Given the description of an element on the screen output the (x, y) to click on. 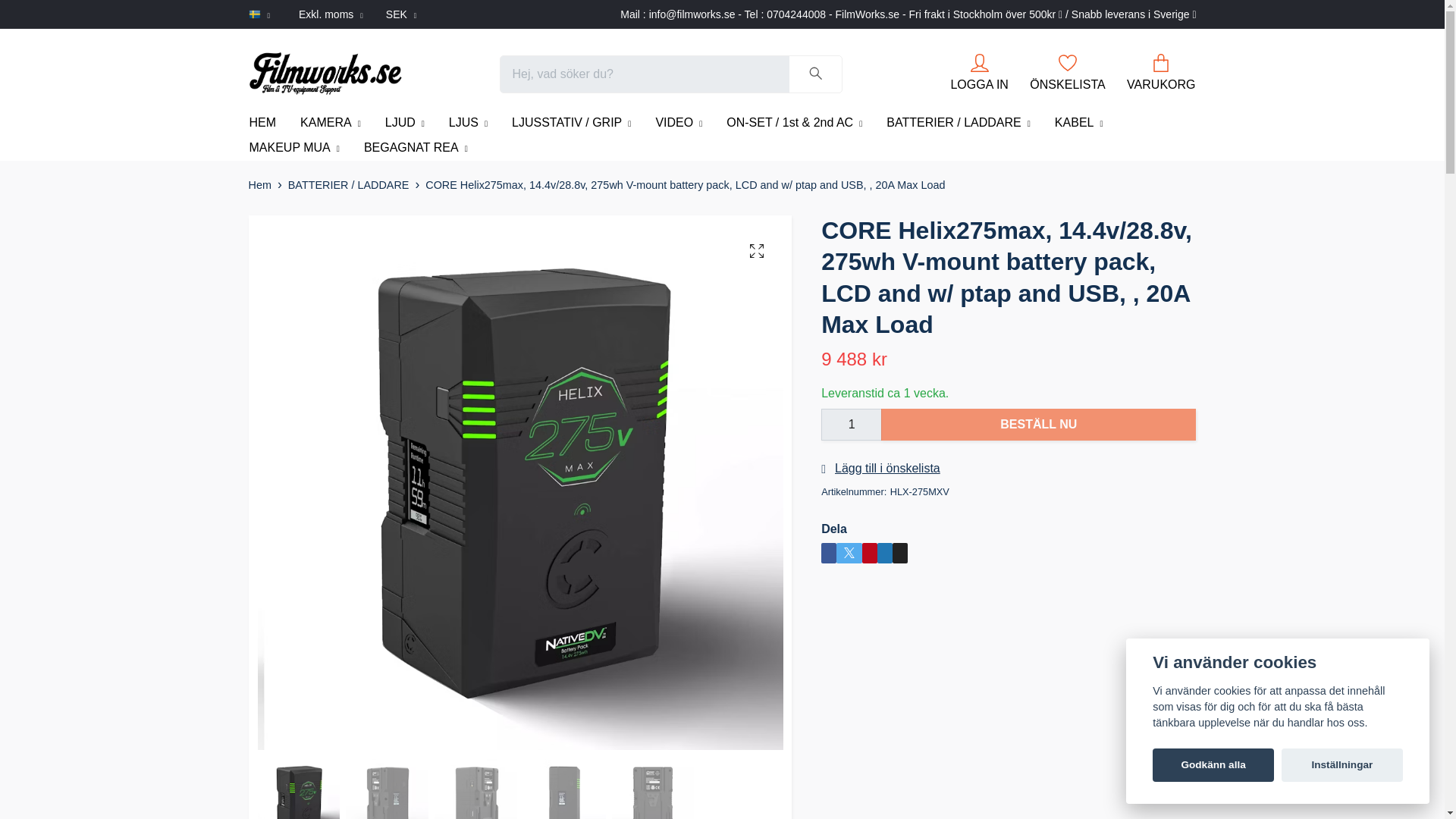
VARUKORG (1160, 72)
Hem (259, 184)
Exkl. moms (330, 14)
LOGGA IN (978, 72)
LJUS (467, 122)
FilmWorks.se (324, 74)
LJUD (404, 122)
SEK (400, 14)
HEM (261, 122)
1 (851, 424)
KAMERA (330, 122)
HEM (261, 122)
